Given the description of an element on the screen output the (x, y) to click on. 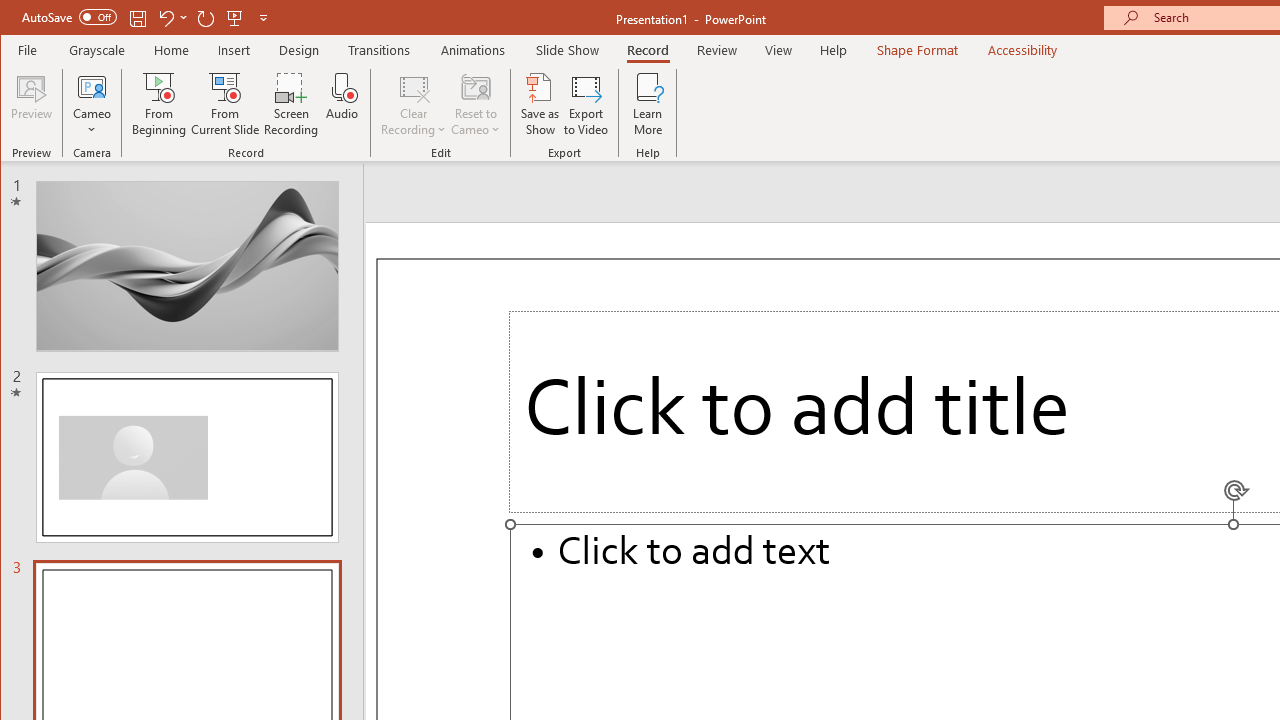
Insert (233, 50)
Animations (473, 50)
Shape Format (916, 50)
From Current Slide... (225, 104)
From Beginning... (159, 104)
Save as Show (539, 104)
Screen Recording (291, 104)
